Given the description of an element on the screen output the (x, y) to click on. 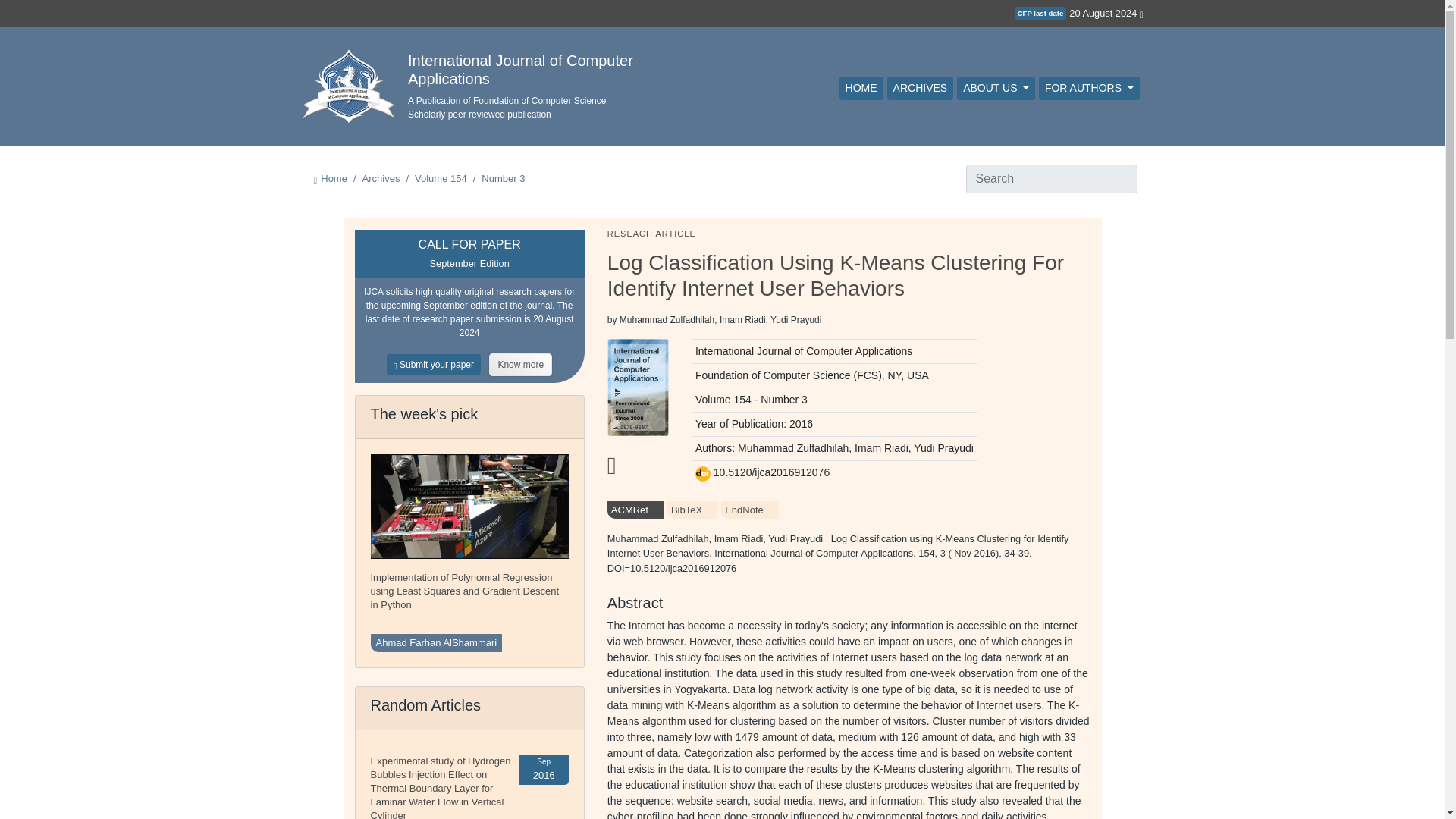
ACMRef (635, 510)
Submit your paper (438, 363)
EndNote (749, 510)
Archives (381, 178)
Ahmad Farhan AlShammari (435, 642)
FOR AUTHORS (1089, 87)
ARCHIVES (919, 87)
HOME (861, 87)
Home (333, 178)
Number 3 (502, 178)
Volume 154 (440, 178)
Know more (520, 363)
BibTeX (691, 510)
ABOUT US (995, 87)
